Given the description of an element on the screen output the (x, y) to click on. 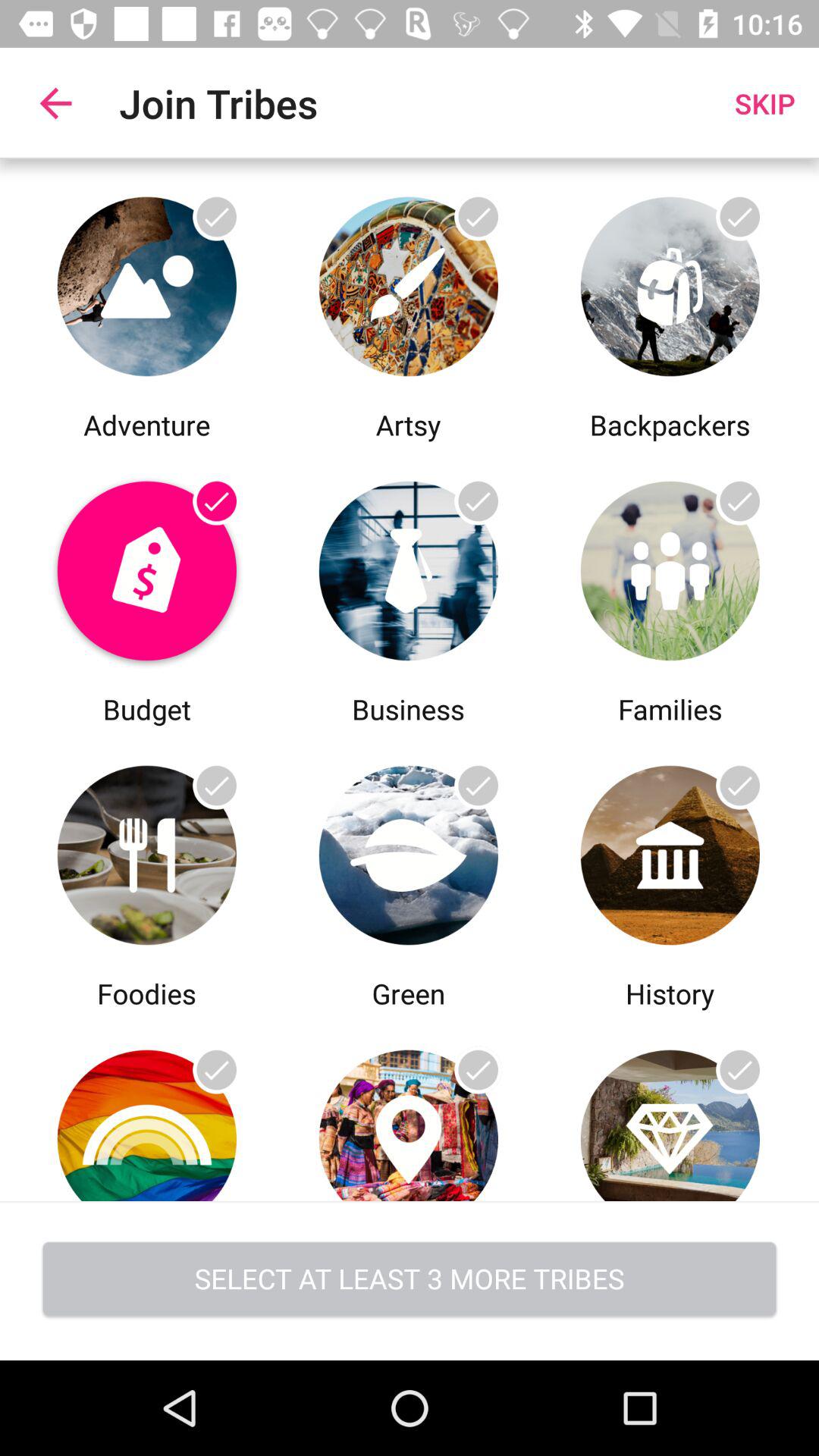
select budget (146, 566)
